Given the description of an element on the screen output the (x, y) to click on. 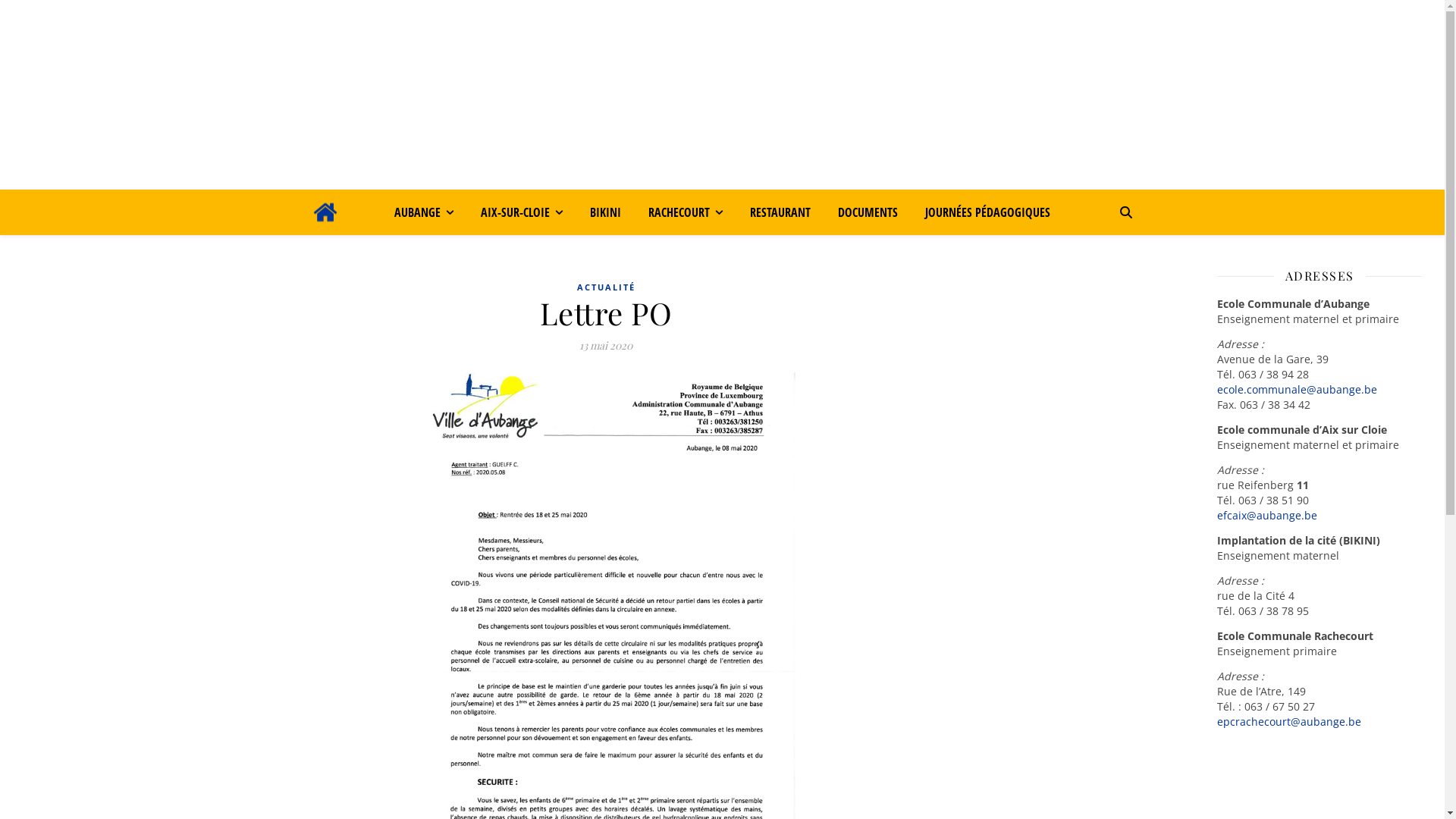
efcaix@aubange.be Element type: text (1267, 515)
BIKINI Element type: text (605, 212)
AIX-SUR-CLOIE Element type: text (521, 212)
ecole.communale@aubange.be Element type: text (1297, 389)
RACHECOURT Element type: text (685, 212)
epcrachecourt@aubange.be Element type: text (1289, 721)
AUBANGE Element type: text (429, 212)
DOCUMENTS Element type: text (867, 212)
RESTAURANT Element type: text (779, 212)
